Given the description of an element on the screen output the (x, y) to click on. 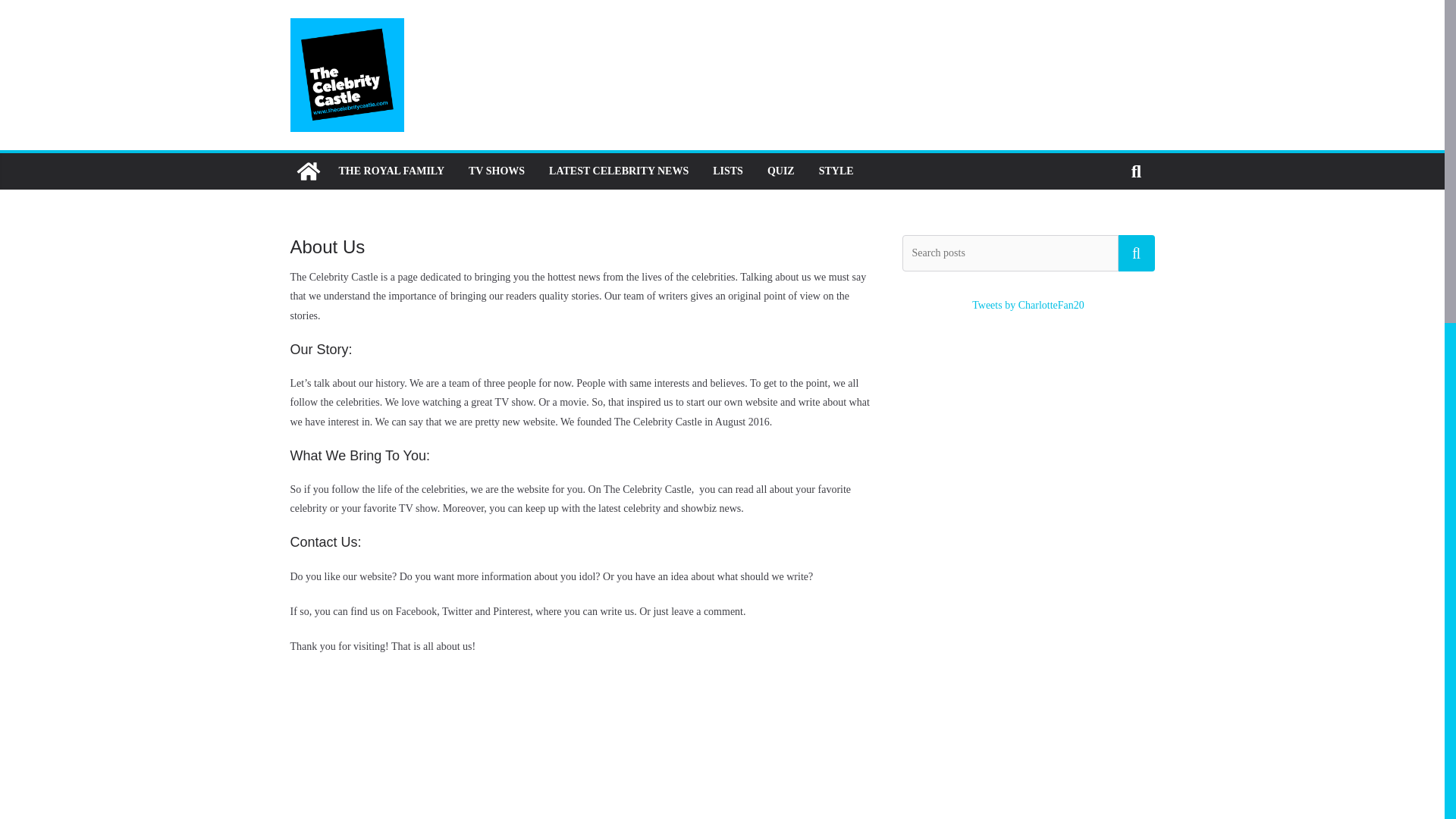
LISTS (727, 170)
The Celebrity Castle (307, 171)
LATEST CELEBRITY NEWS (618, 170)
TV SHOWS (496, 170)
Search (1136, 253)
Tweets by CharlotteFan20 (1028, 305)
THE ROYAL FAMILY (390, 170)
STYLE (835, 170)
QUIZ (780, 170)
